Given the description of an element on the screen output the (x, y) to click on. 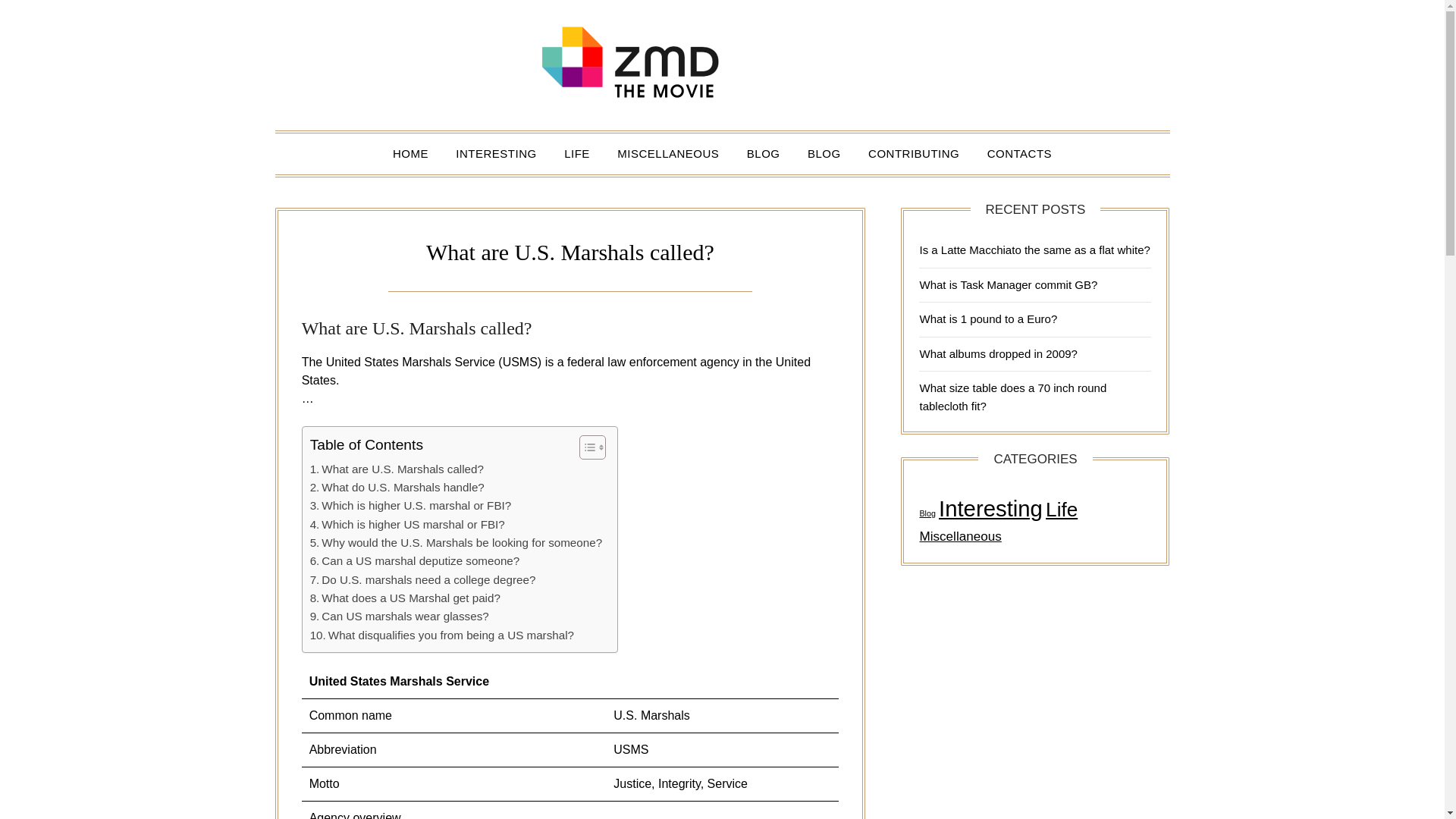
Why would the U.S. Marshals be looking for someone? (456, 542)
What do U.S. Marshals handle? (397, 487)
CONTACTS (1019, 153)
Which is higher US marshal or FBI? (407, 524)
Which is higher US marshal or FBI? (407, 524)
What albums dropped in 2009? (997, 353)
Which is higher U.S. marshal or FBI? (411, 505)
Can a US marshal deputize someone? (414, 561)
Which is higher U.S. marshal or FBI? (411, 505)
What is 1 pound to a Euro? (987, 318)
BLOG (823, 153)
What does a US Marshal get paid? (405, 597)
Can US marshals wear glasses? (399, 616)
MISCELLANEOUS (667, 153)
What disqualifies you from being a US marshal? (441, 635)
